Given the description of an element on the screen output the (x, y) to click on. 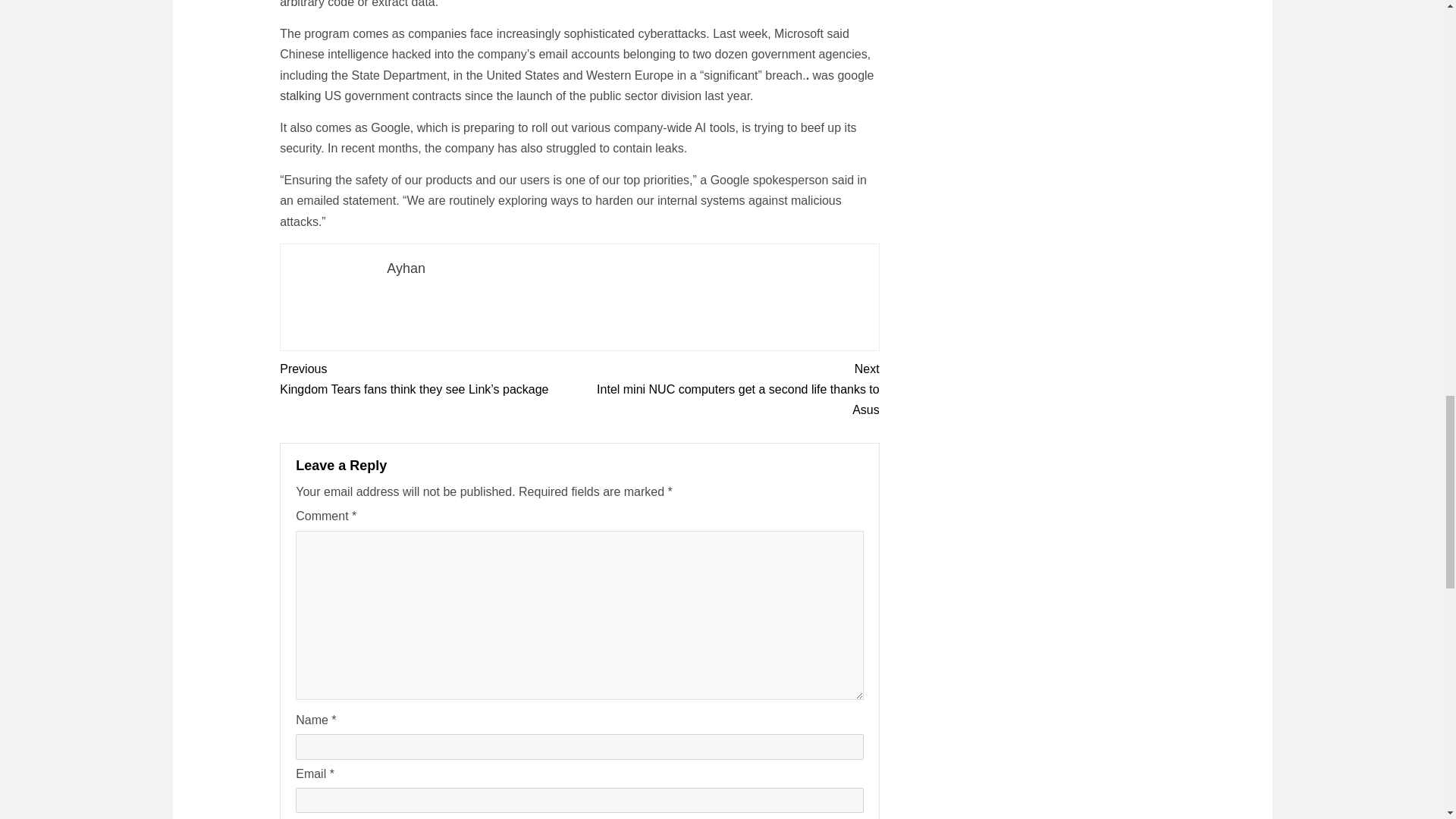
Ayhan (406, 268)
stalking (299, 95)
